Given the description of an element on the screen output the (x, y) to click on. 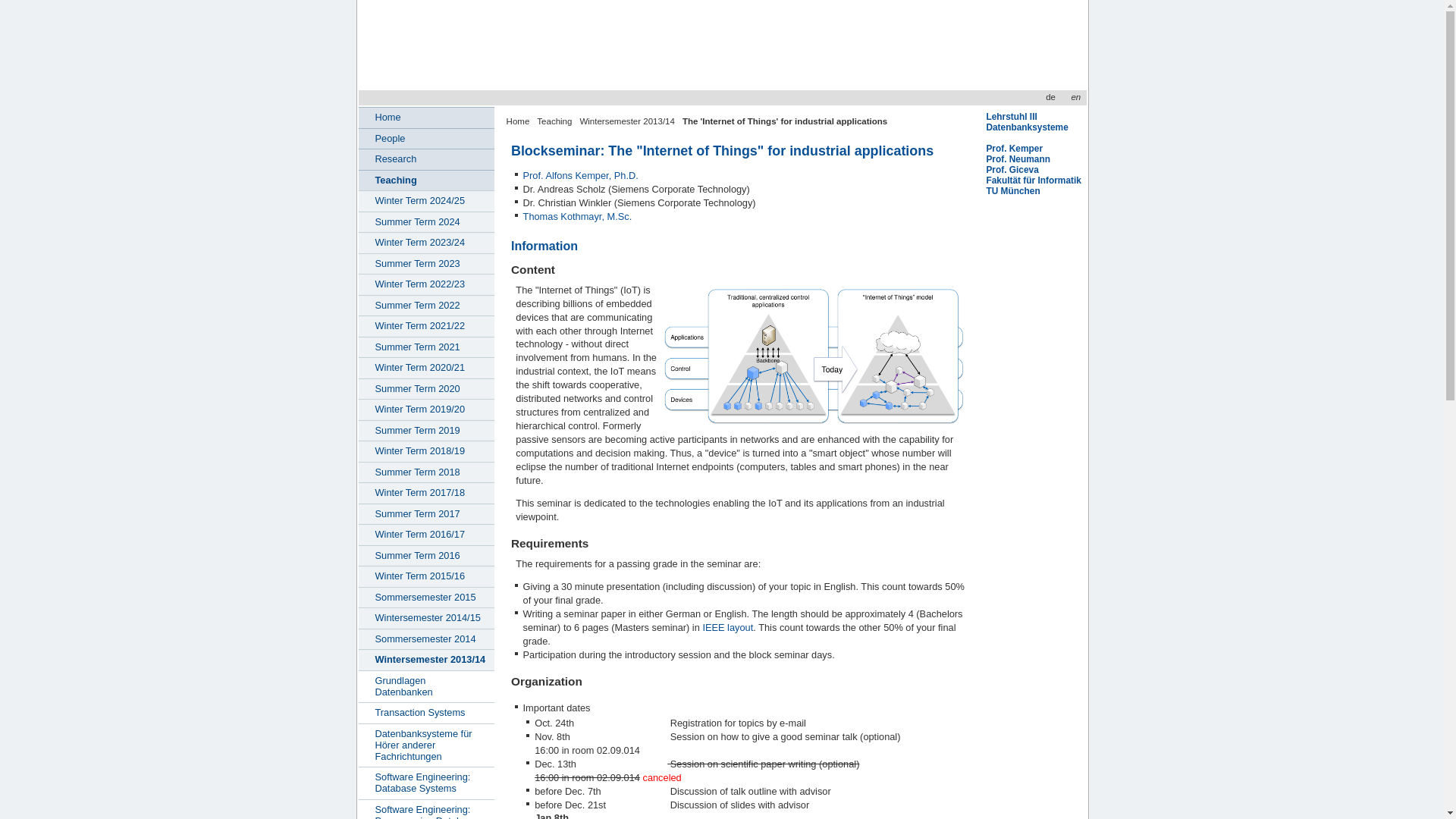
Teaching (554, 121)
Summer Term 2024 (426, 222)
IEEE layout (726, 627)
Lehrstuhl III (1010, 116)
The 'Internet of Things' for industrial applications (784, 121)
Home (426, 117)
People (426, 138)
Summer Term 2020 (426, 389)
Datenbanksysteme (1026, 127)
de (1050, 96)
Research (426, 159)
Summer Term 2021 (426, 346)
Teaching (426, 179)
Prof. Neumann (1017, 158)
Summer Term 2019 (426, 430)
